Given the description of an element on the screen output the (x, y) to click on. 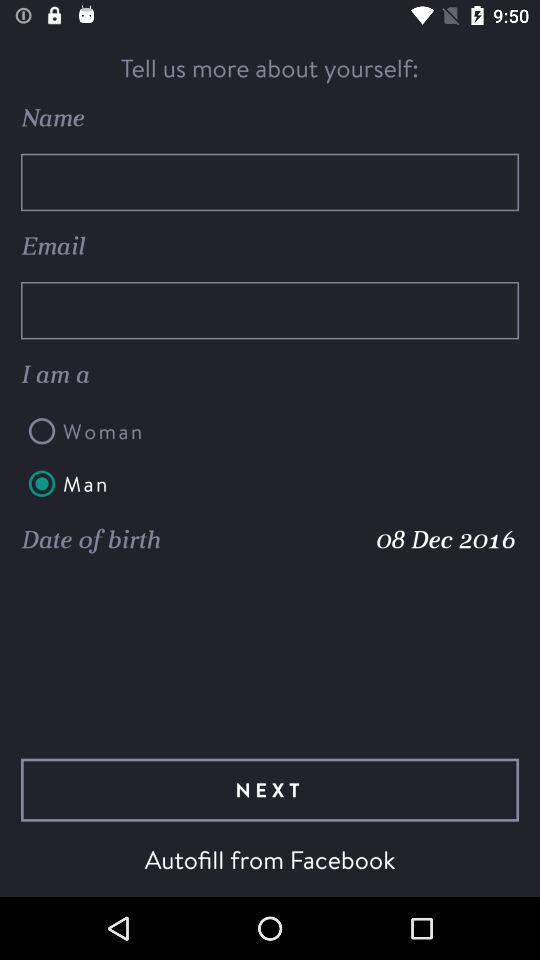
turn on the icon below the i am a icon (270, 431)
